Given the description of an element on the screen output the (x, y) to click on. 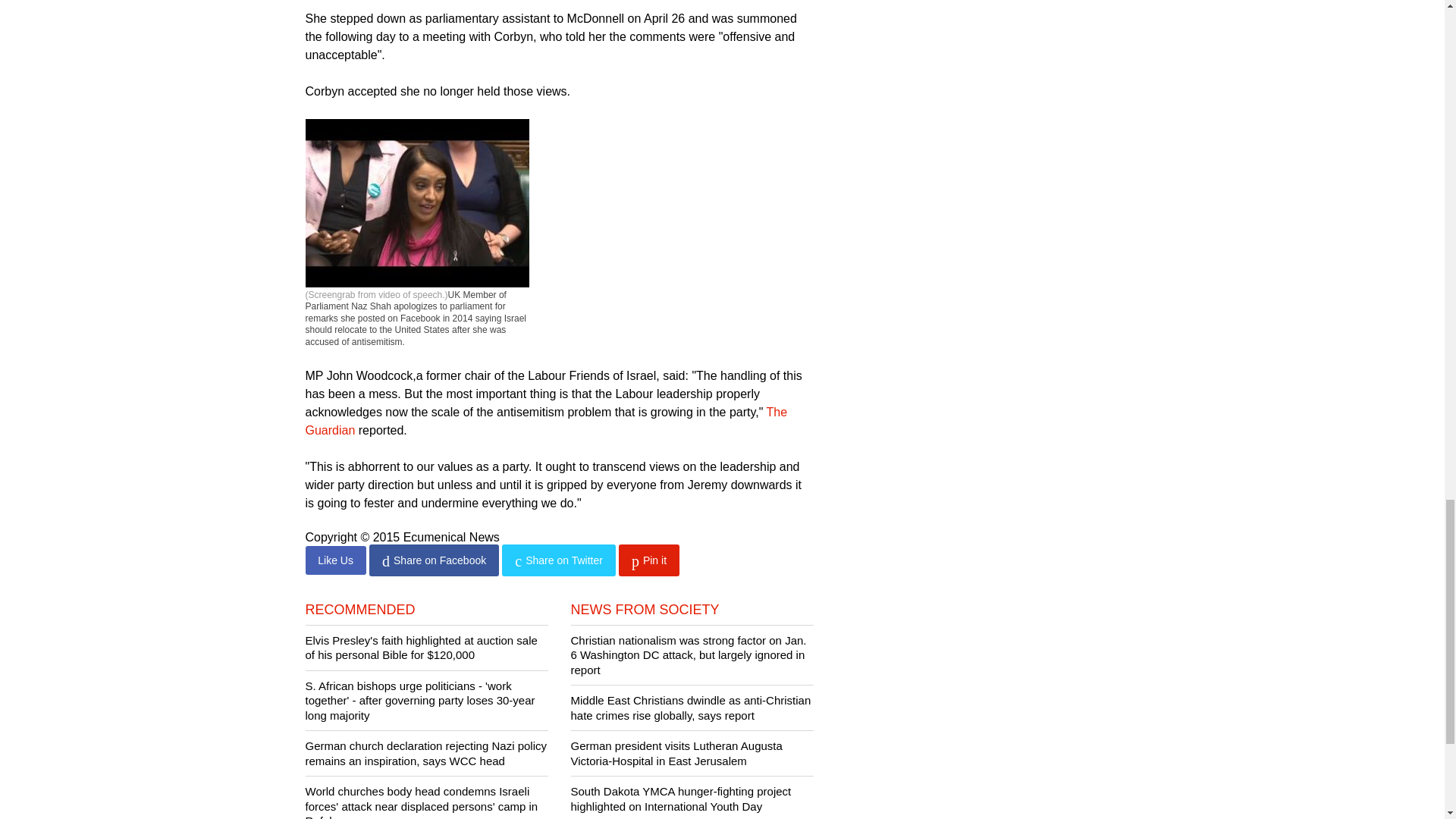
The Guardian (545, 419)
Guardian on UK MP suspended for antisemitic remark (545, 419)
Pin it (648, 560)
Share on Facebook (434, 560)
Share on Twitter (558, 560)
